Given the description of an element on the screen output the (x, y) to click on. 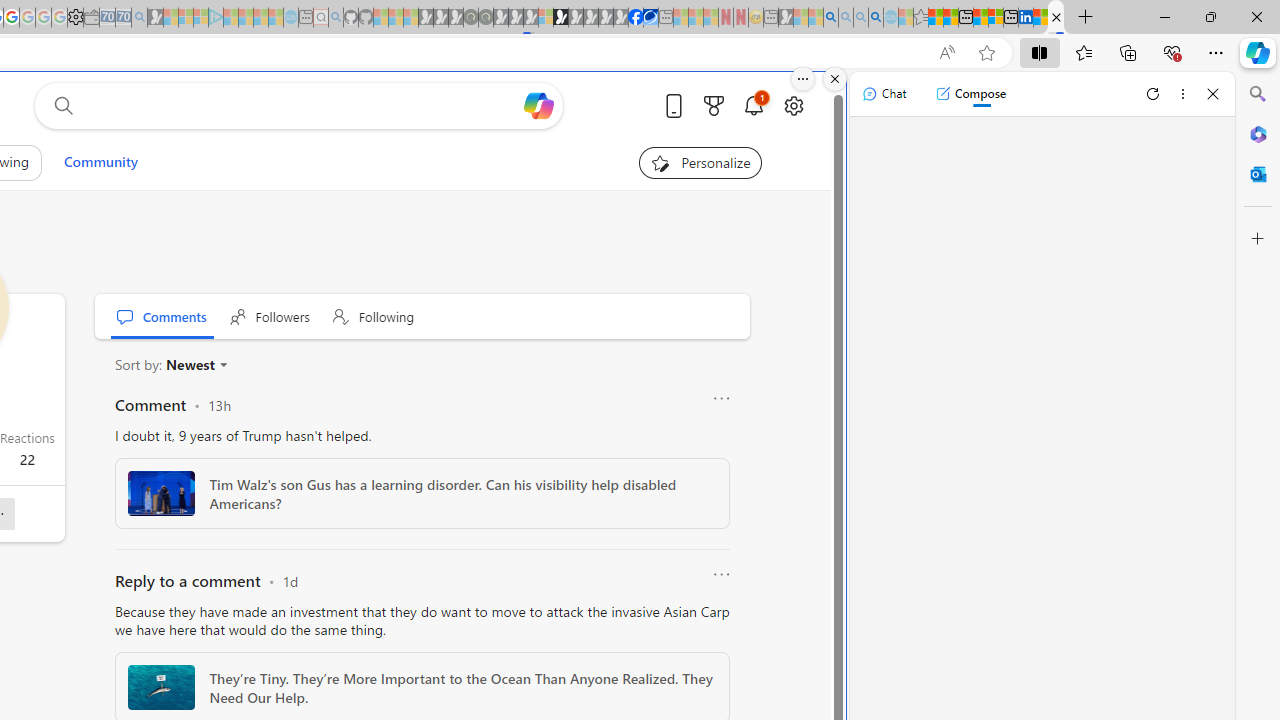
 Followers (269, 316)
Community (100, 162)
